Given the description of an element on the screen output the (x, y) to click on. 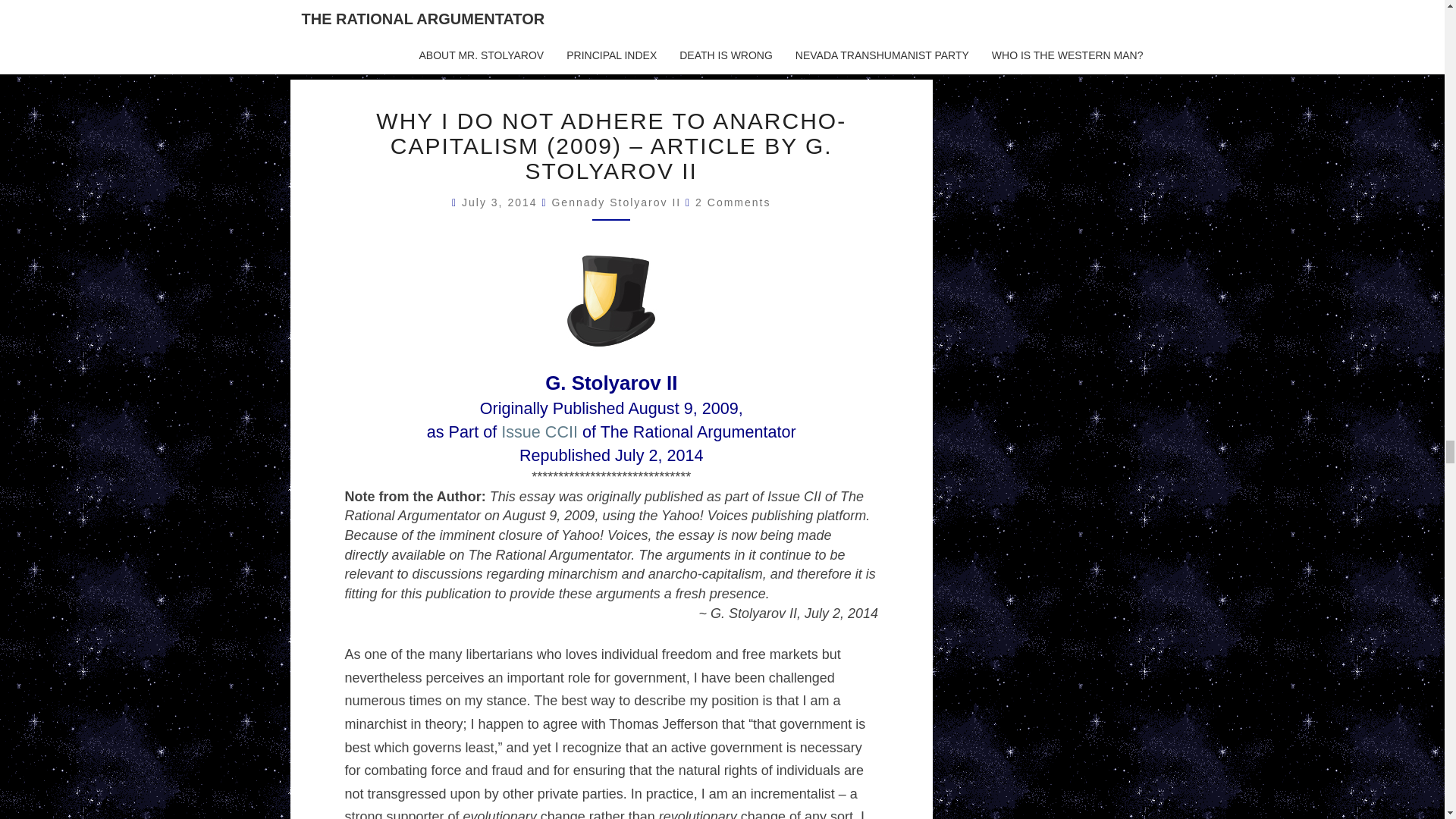
3:04 AM (501, 202)
View all posts by Gennady Stolyarov II (616, 202)
